Given the description of an element on the screen output the (x, y) to click on. 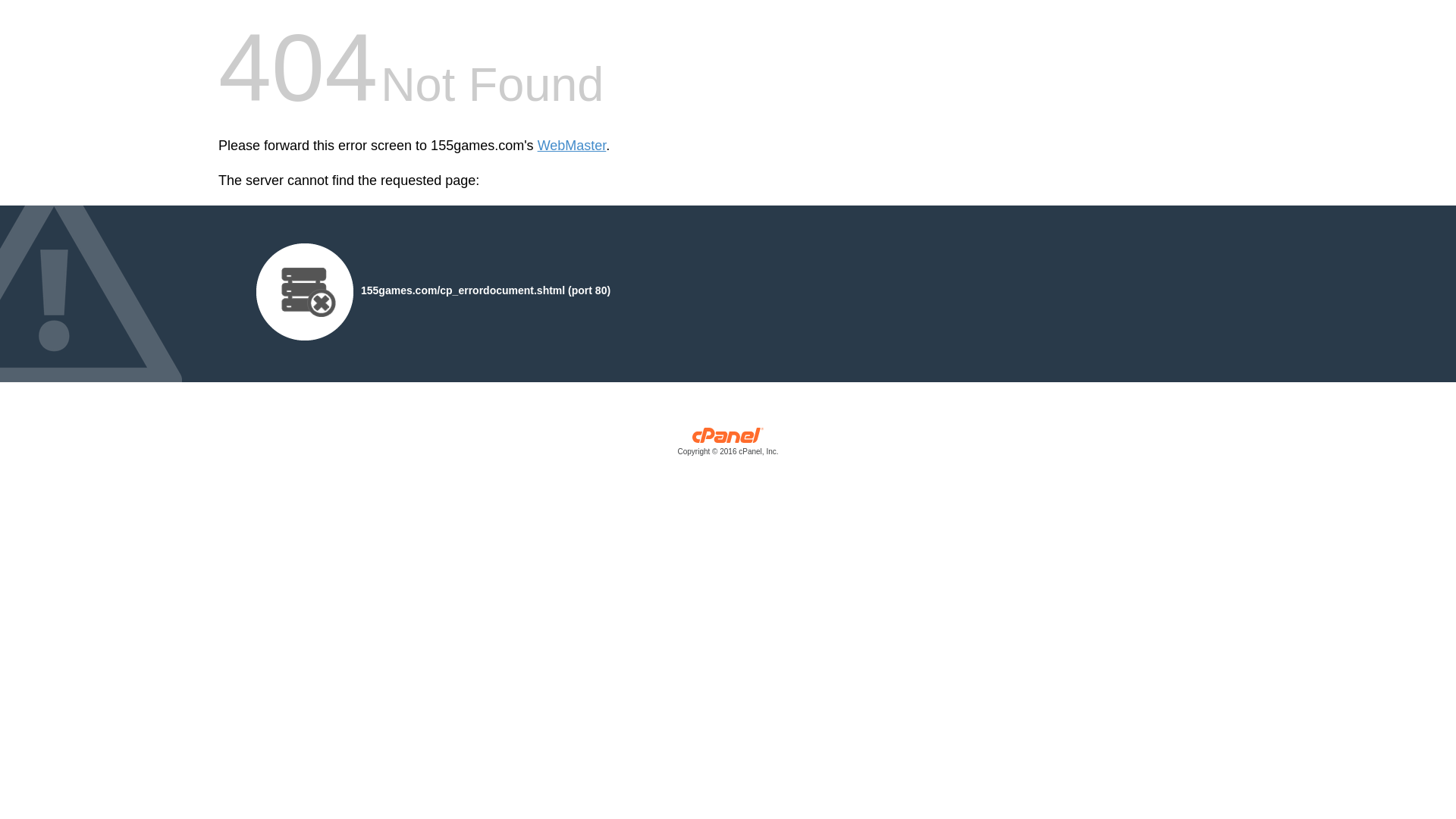
WebMaster Element type: text (571, 145)
